Given the description of an element on the screen output the (x, y) to click on. 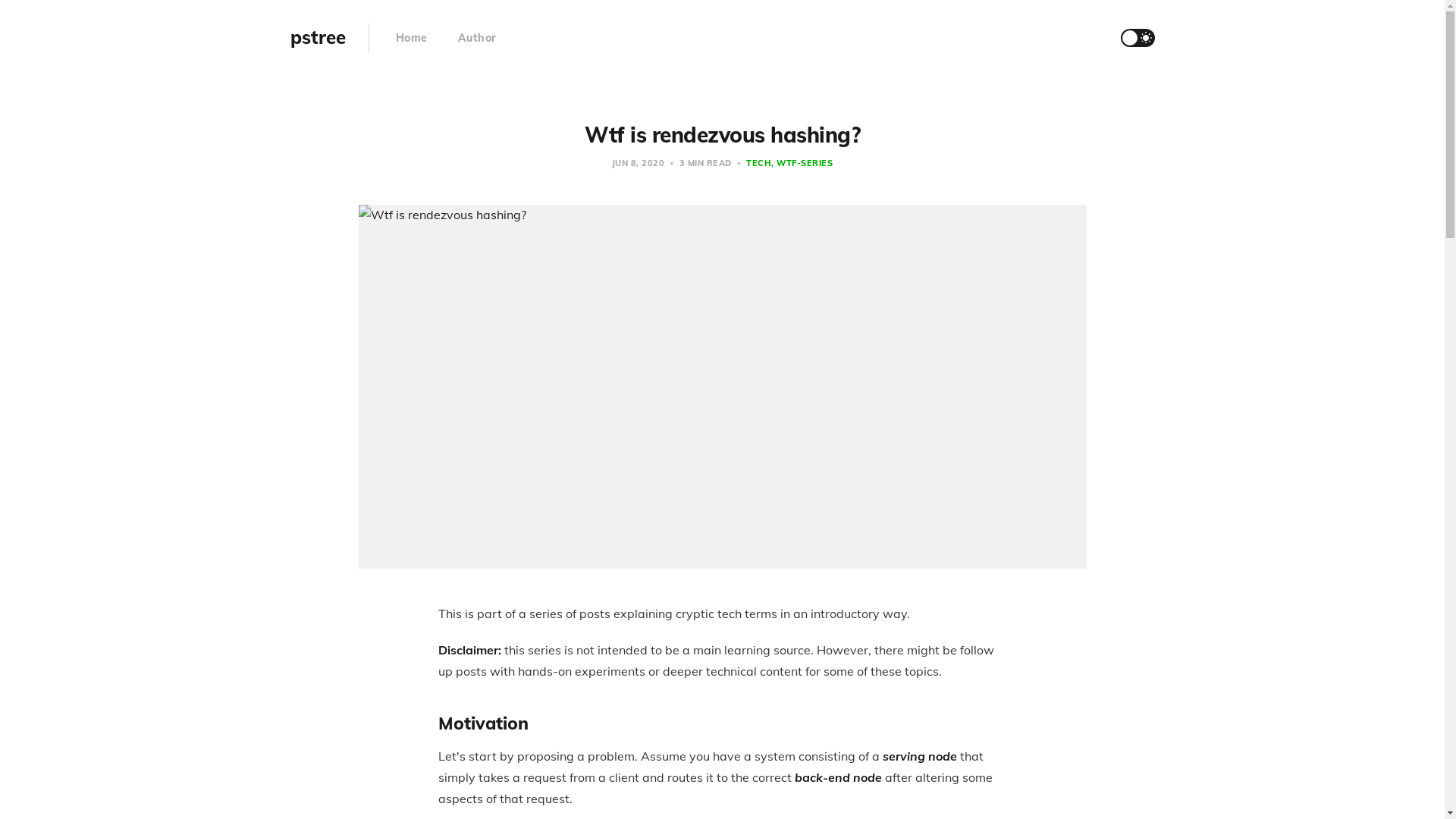
WTF-SERIES Element type: text (801, 162)
Author Element type: text (477, 37)
pstree Element type: text (317, 37)
Home Element type: text (411, 37)
TECH Element type: text (758, 162)
